Given the description of an element on the screen output the (x, y) to click on. 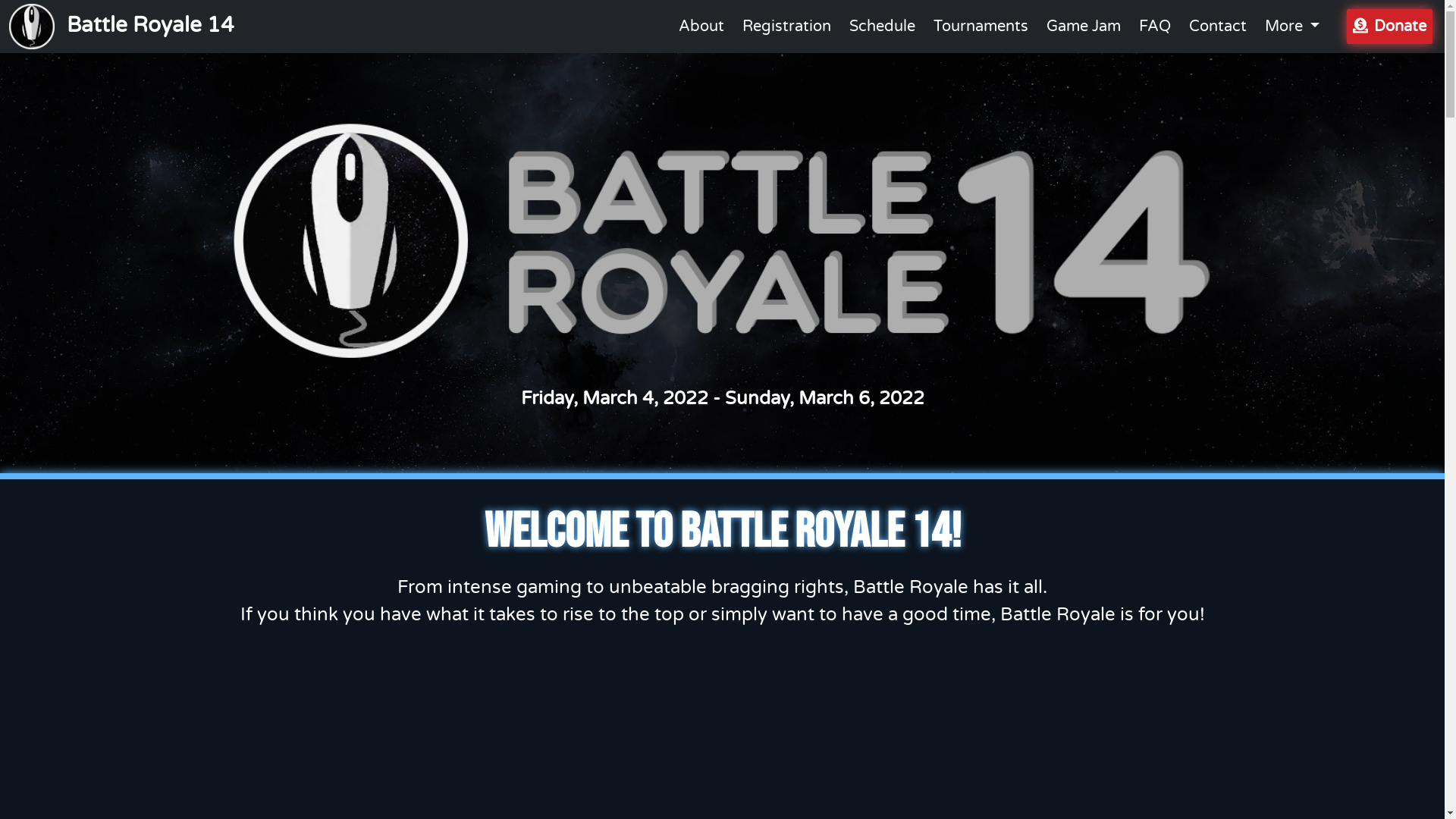
Return to website Element type: text (728, 466)
